Given the description of an element on the screen output the (x, y) to click on. 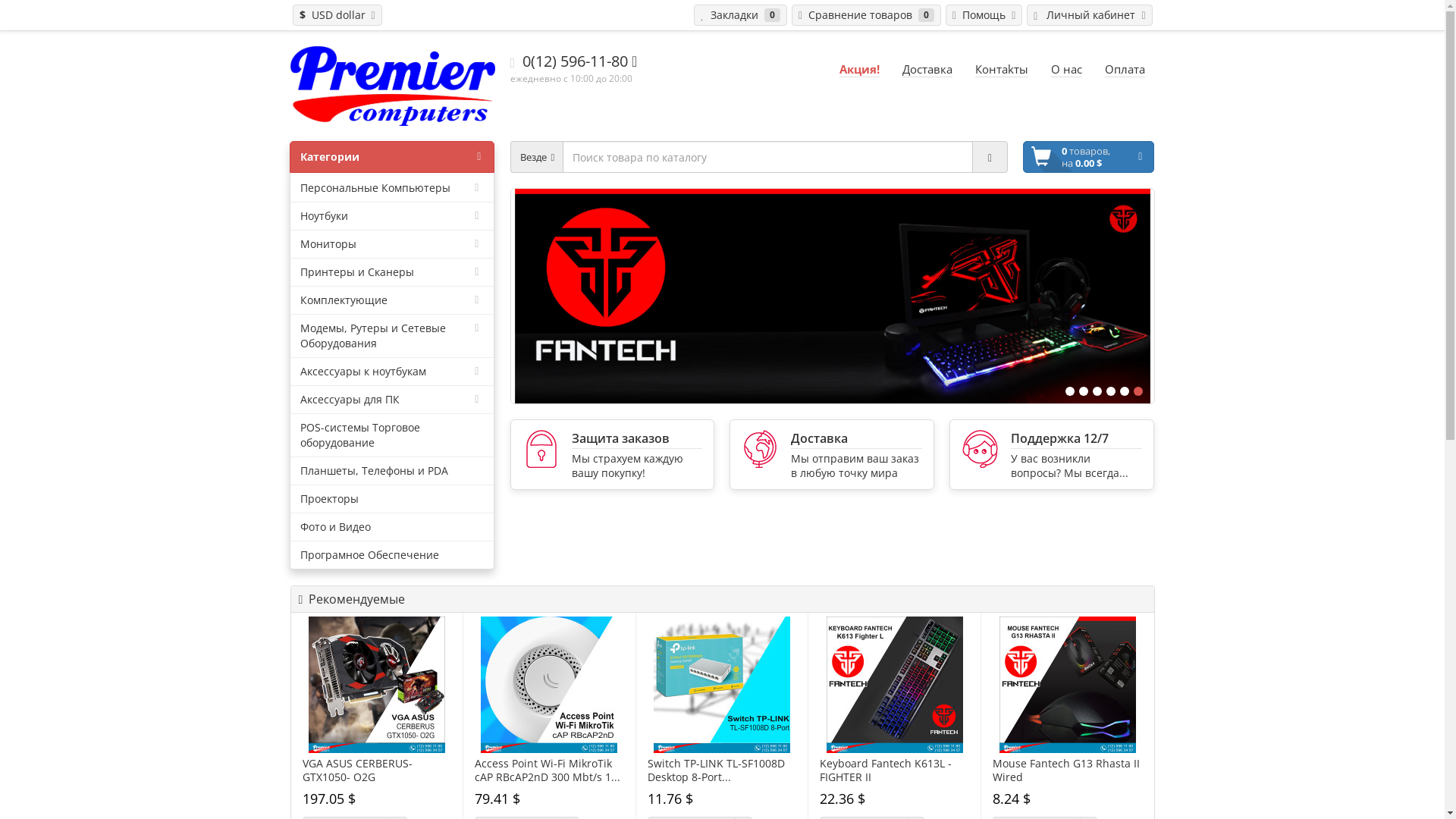
VGA ASUS CERBERUS-GTX1050- O2G Element type: text (376, 770)
Mouse Fantech G13 Rhasta II Wired Element type: hover (1067, 684)
Switch TP-LINK TL-SF1008D Desktop 8-Port... Element type: text (722, 770)
1 Element type: text (1068, 390)
2 Element type: text (1082, 390)
Access Point Wi-Fi MikroTik cAP RBcAP2nD 300 Mbt/s 1... Element type: text (549, 770)
Keyboard Fantech K613L - FIGHTER II Element type: hover (894, 684)
Premier Computers Element type: hover (391, 85)
Keyboard Fantech K613L - FIGHTER II Element type: text (894, 770)
3 Element type: text (1096, 390)
Mouse Fantech G13 Rhasta II Wired Element type: text (1067, 770)
5 Element type: text (1123, 390)
6 Element type: text (1137, 390)
4 Element type: text (1109, 390)
$  USD dollar   Element type: text (337, 14)
VGA ASUS CERBERUS-GTX1050- O2G Element type: hover (376, 684)
